Given the description of an element on the screen output the (x, y) to click on. 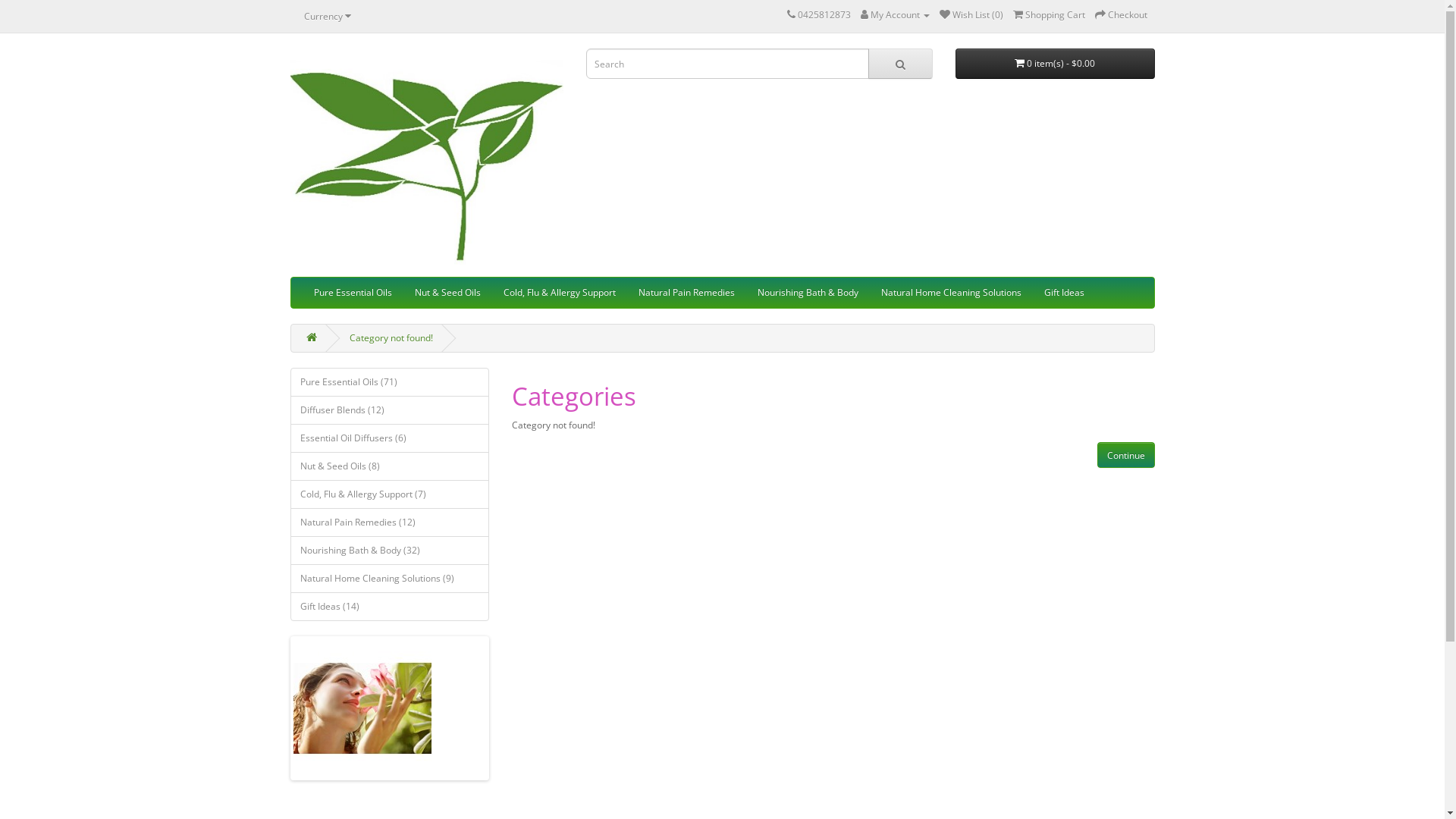
Wish List (0) Element type: text (970, 14)
Natural Pain Remedies Element type: text (685, 292)
Checkout Element type: text (1121, 14)
Natural Home Cleaning Solutions (9) Element type: text (389, 578)
Natural Home Cleaning Solutions Element type: text (950, 292)
0 item(s) - $0.00 Element type: text (1054, 63)
Currency  Element type: text (327, 15)
Cold, Flu & Allergy Support Element type: text (558, 292)
Cold, Flu & Allergy Support (7) Element type: text (389, 494)
Pure Essential Oils Element type: text (351, 292)
Shopping Cart Element type: text (1049, 14)
Nourishing Bath & Body Element type: text (807, 292)
My Account Element type: text (893, 14)
Category not found! Element type: text (390, 337)
Essential Essence Aromatherapy Oils Element type: hover (425, 158)
Nut & Seed Oils (8) Element type: text (389, 465)
Pure Essential Oils (71) Element type: text (389, 381)
Nourishing Bath & Body (32) Element type: text (389, 550)
Diffuser Blends (12) Element type: text (389, 409)
Essential Oil Diffusers (6) Element type: text (389, 437)
Natural Pain Remedies (12) Element type: text (389, 522)
Gift Ideas Element type: text (1063, 292)
Nut & Seed Oils Element type: text (447, 292)
Gift Ideas (14) Element type: text (389, 606)
Continue Element type: text (1125, 454)
